Given the description of an element on the screen output the (x, y) to click on. 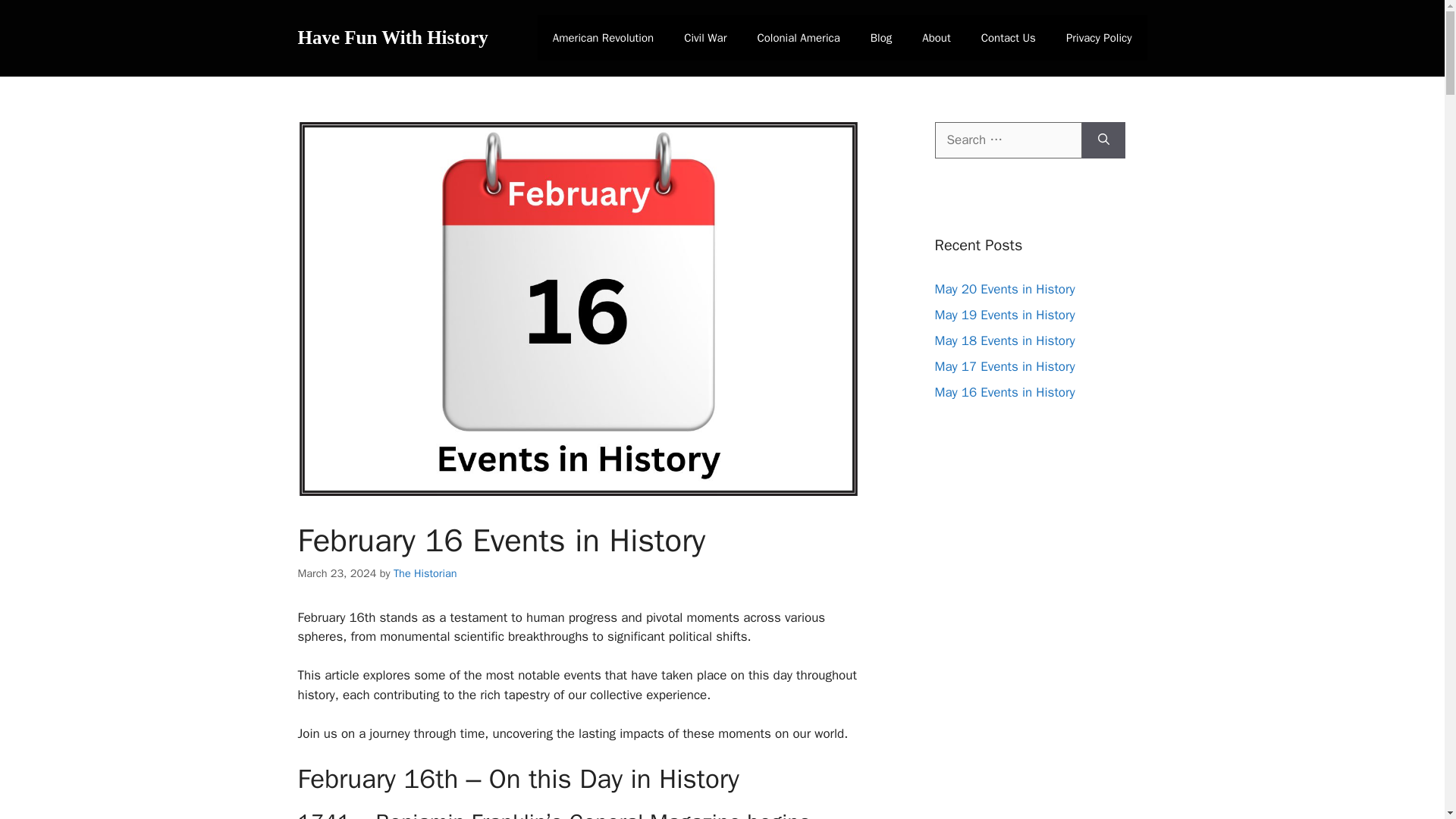
May 19 Events in History (1004, 314)
The Historian (425, 572)
Have Fun With History (392, 37)
May 16 Events in History (1004, 391)
Contact Us (1008, 37)
View all posts by The Historian (425, 572)
Privacy Policy (1099, 37)
Colonial America (797, 37)
Search for: (1007, 140)
About (936, 37)
May 17 Events in History (1004, 365)
May 20 Events in History (1004, 288)
American Revolution (602, 37)
Civil War (704, 37)
May 18 Events in History (1004, 340)
